Given the description of an element on the screen output the (x, y) to click on. 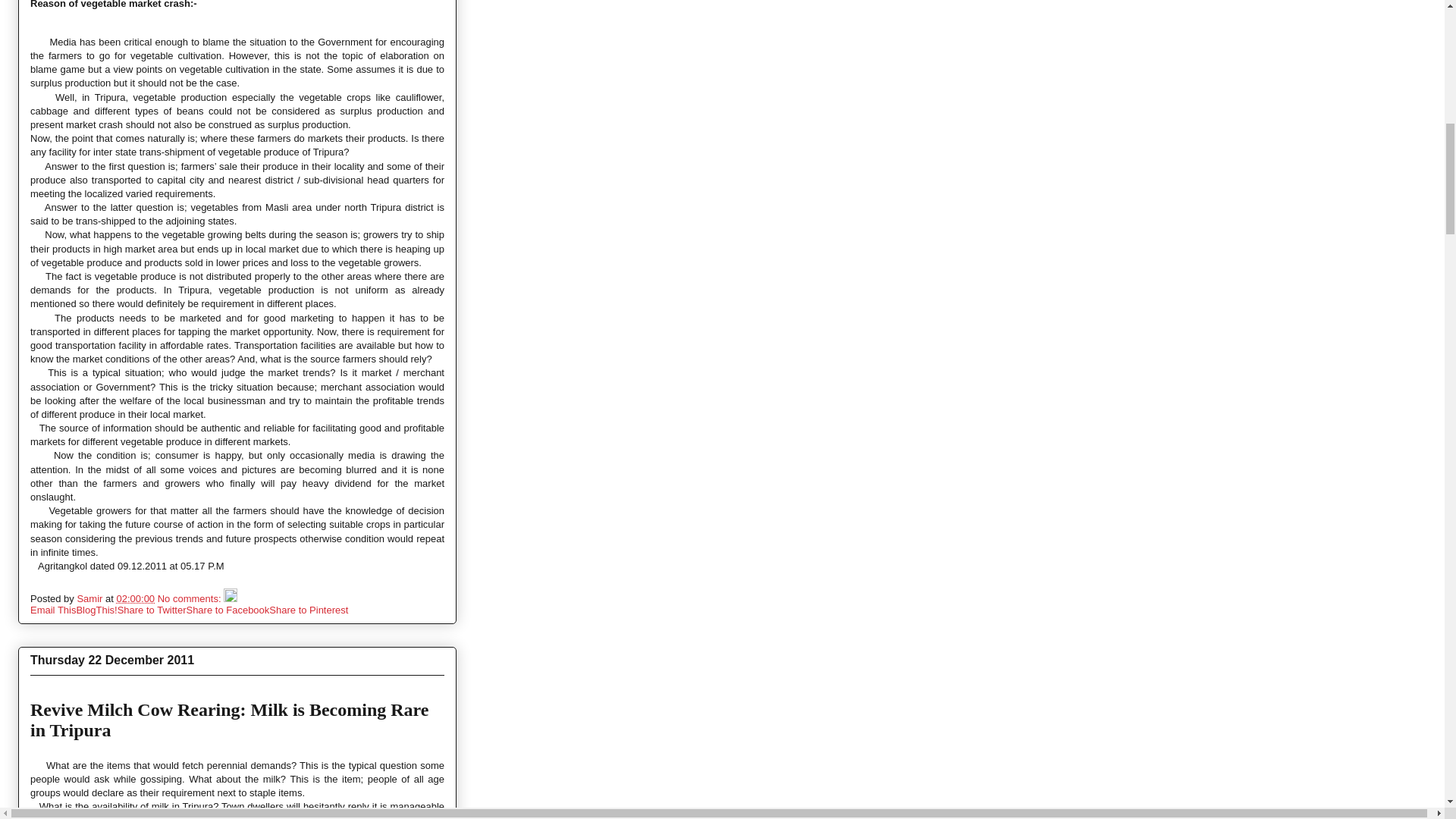
Revive Milch Cow Rearing: Milk is Becoming Rare in Tripura (229, 720)
Share to Facebook (227, 609)
BlogThis! (95, 609)
Samir (90, 598)
author profile (90, 598)
Share to Facebook (227, 609)
No comments: (190, 598)
02:00:00 (135, 598)
Edit Post (230, 598)
Share to Pinterest (308, 609)
Email This (52, 609)
BlogThis! (95, 609)
Email This (52, 609)
Share to Pinterest (308, 609)
permanent link (135, 598)
